Given the description of an element on the screen output the (x, y) to click on. 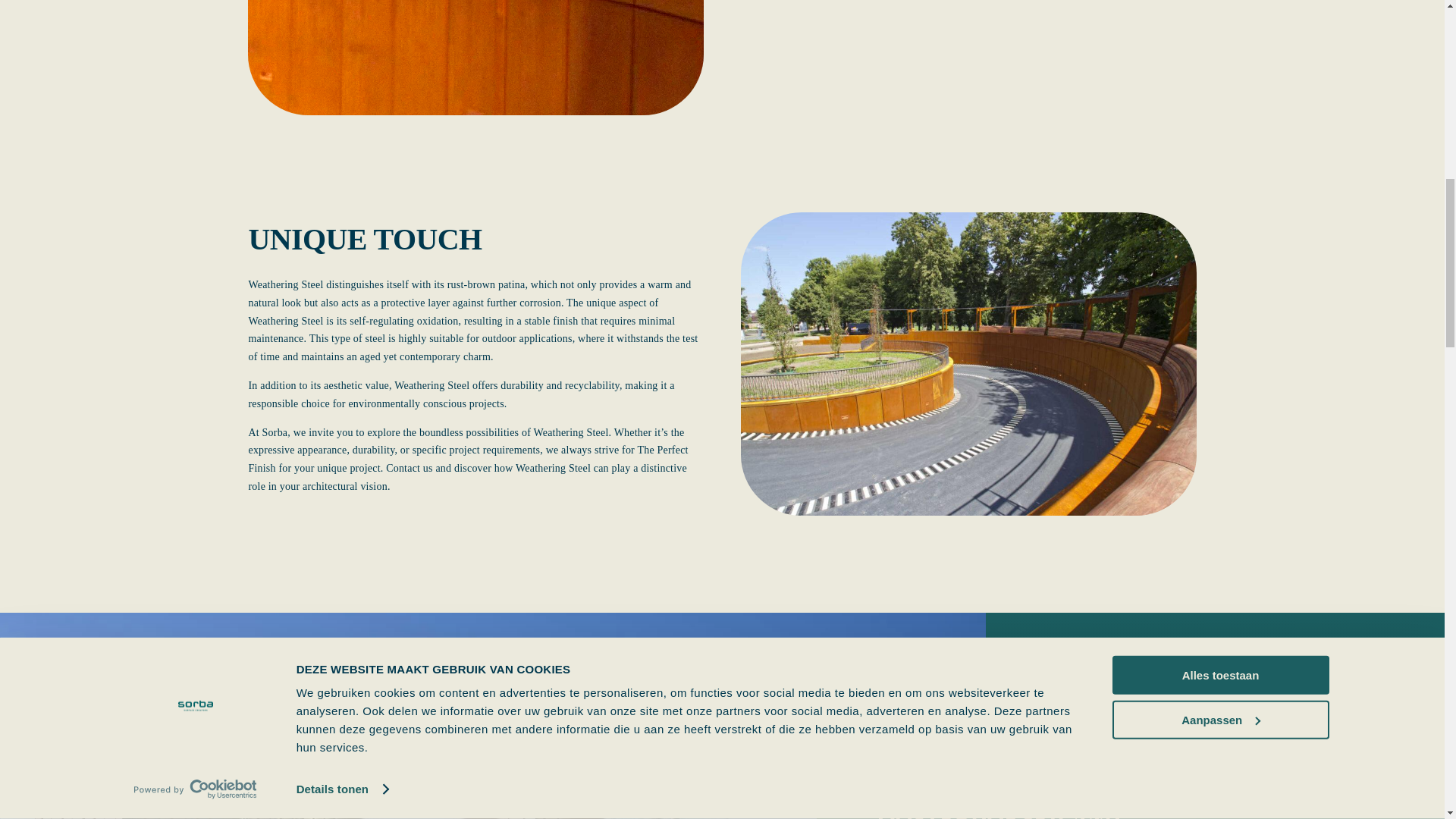
Corten-Sorba (475, 57)
